Given the description of an element on the screen output the (x, y) to click on. 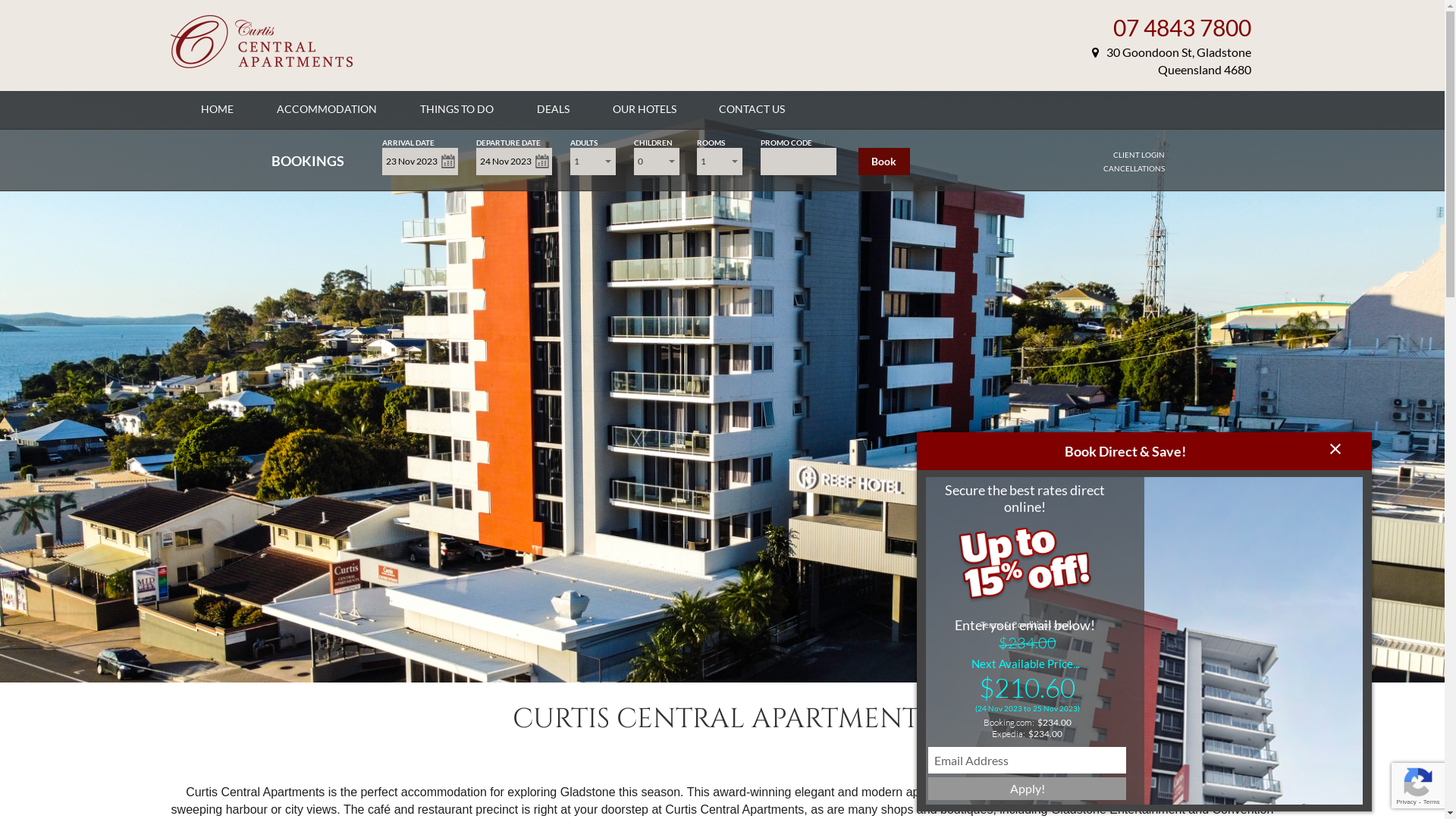
DEALS Element type: text (552, 109)
CLIENT LOGIN Element type: text (1138, 154)
OUR HOTELS Element type: text (644, 109)
CONTACT US Element type: text (751, 109)
HOME Element type: text (216, 109)
CANCELLATIONS Element type: text (1133, 167)
Terms & Conditions apply. Element type: text (1026, 624)
30 Goondoon St, Gladstone
Queensland 4680 Element type: text (1171, 60)
Book Element type: text (884, 161)
Apply! Element type: text (1027, 788)
ACCOMMODATION Element type: text (326, 109)
07 4843 7800 Element type: text (1182, 26)
THINGS TO DO Element type: text (456, 109)
